Given the description of an element on the screen output the (x, y) to click on. 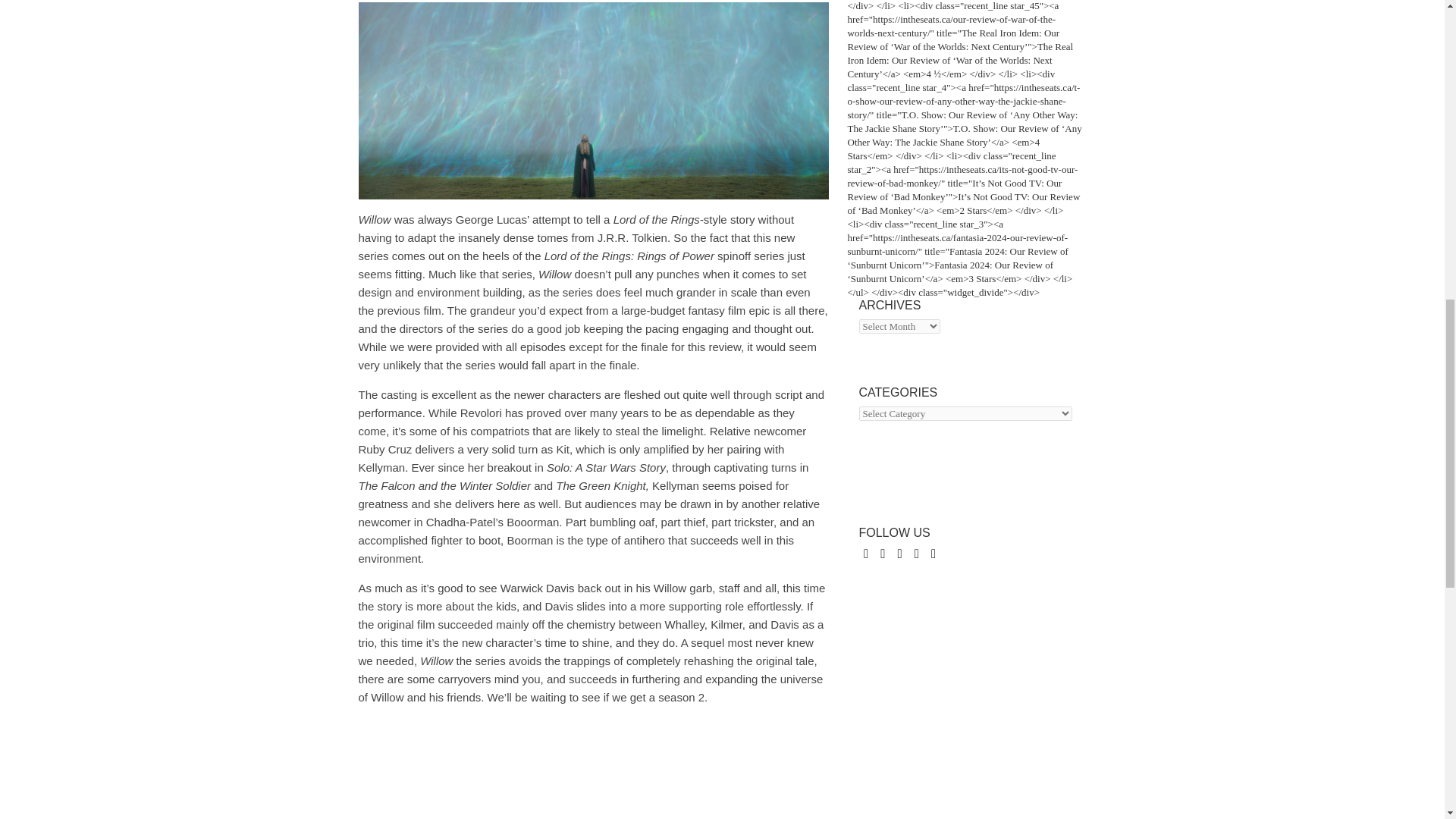
Twitter (882, 552)
Instagram (899, 552)
Facebook (865, 552)
Letterboxd (915, 552)
TikTok (933, 552)
